Given the description of an element on the screen output the (x, y) to click on. 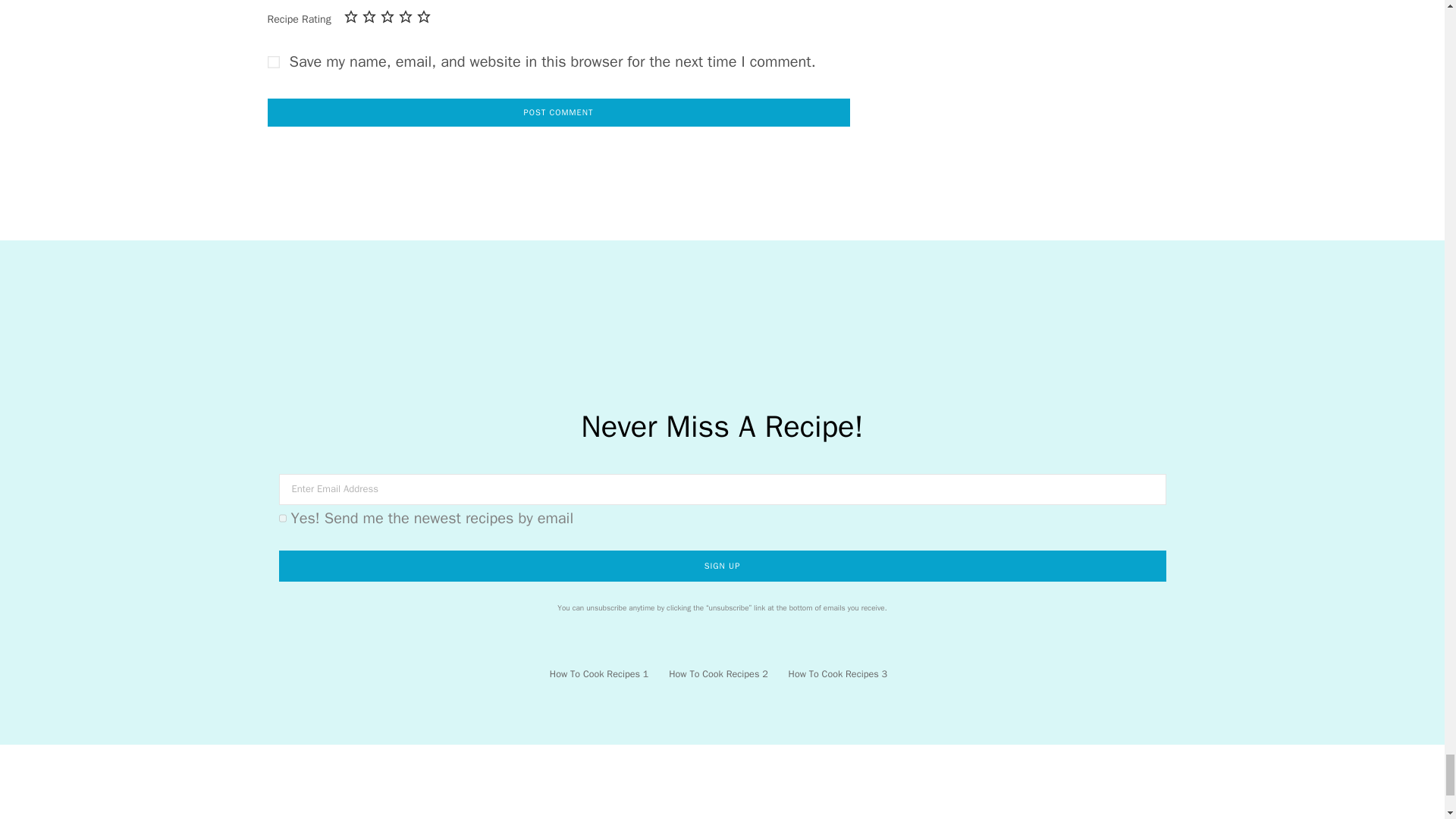
Post Comment (557, 112)
yes (272, 61)
Sign up (722, 565)
